Given the description of an element on the screen output the (x, y) to click on. 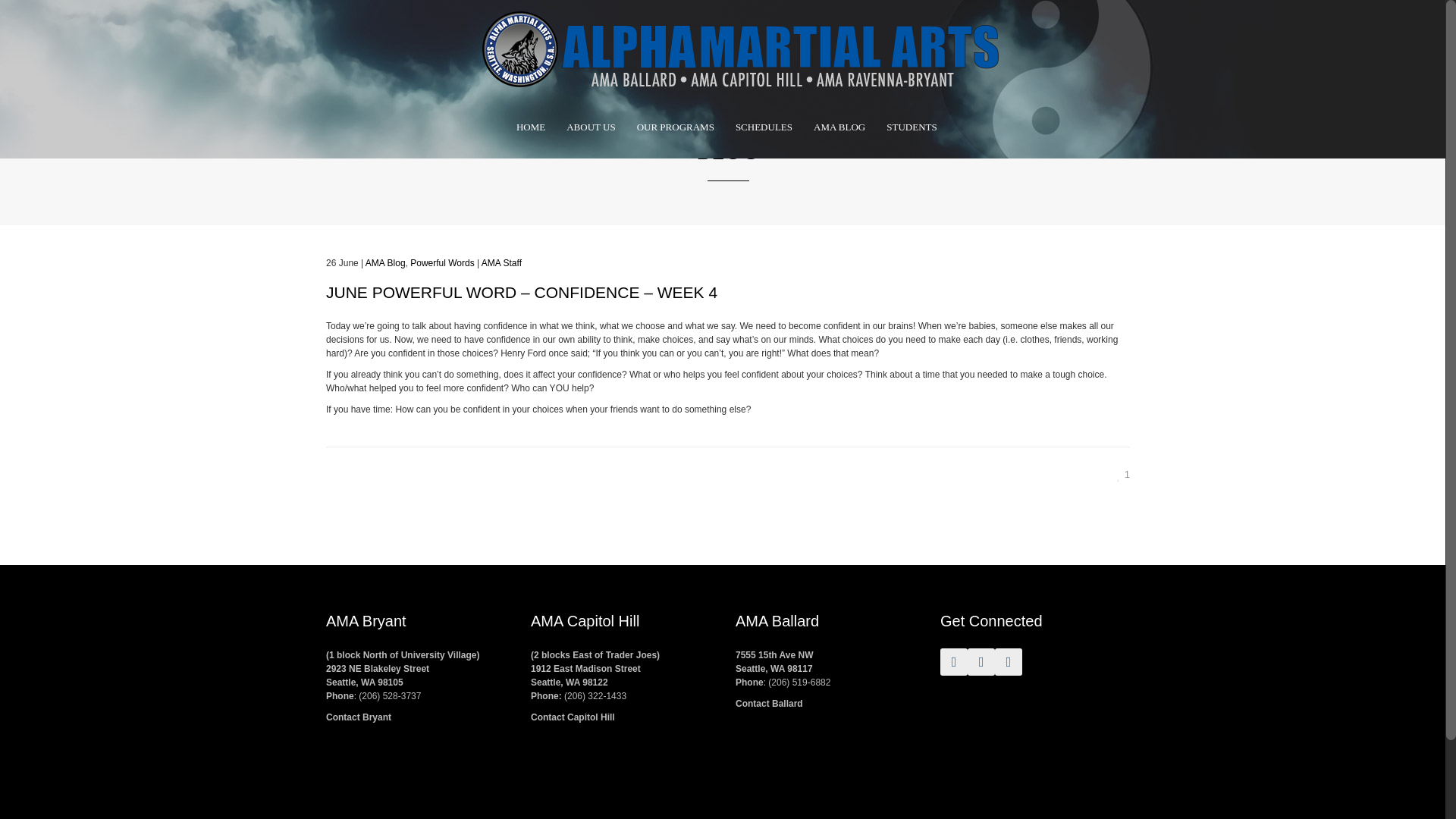
OUR PROGRAMS (675, 40)
STUDENTS (911, 40)
Page 3 (727, 367)
AMA BLOG (839, 40)
ABOUT US (591, 40)
SCHEDULES (764, 40)
